Given the description of an element on the screen output the (x, y) to click on. 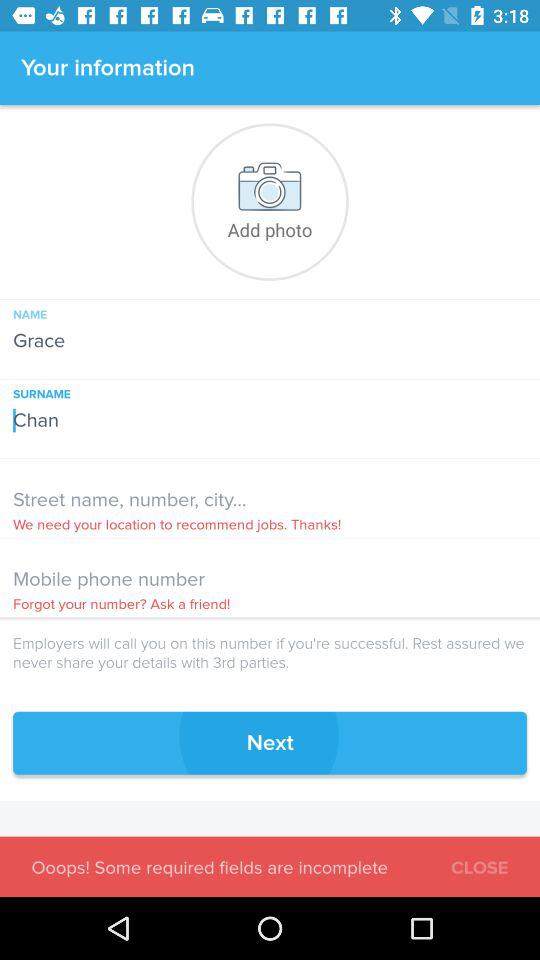
scroll to the close item (479, 864)
